Given the description of an element on the screen output the (x, y) to click on. 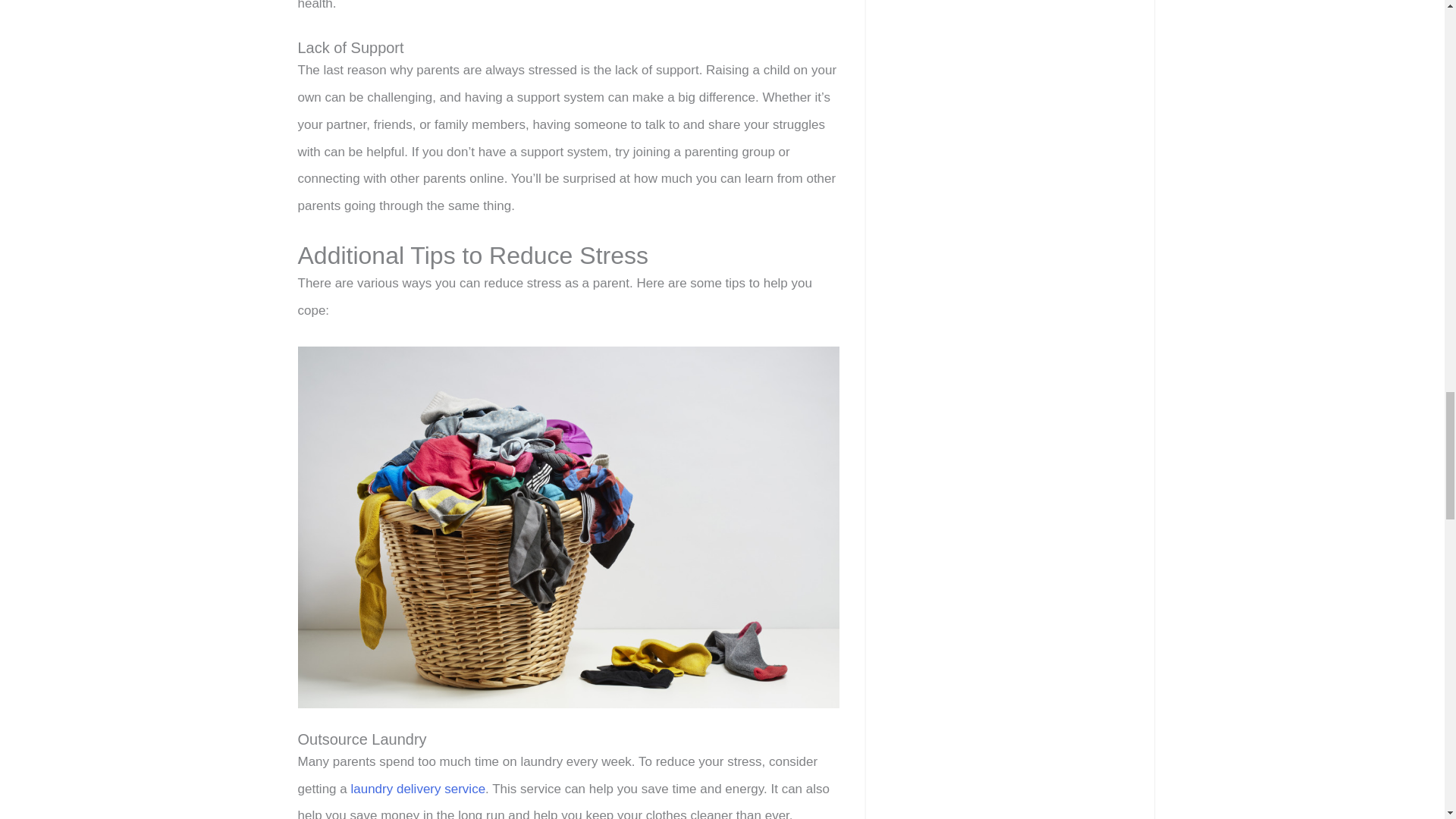
laundry delivery service (417, 789)
